Given the description of an element on the screen output the (x, y) to click on. 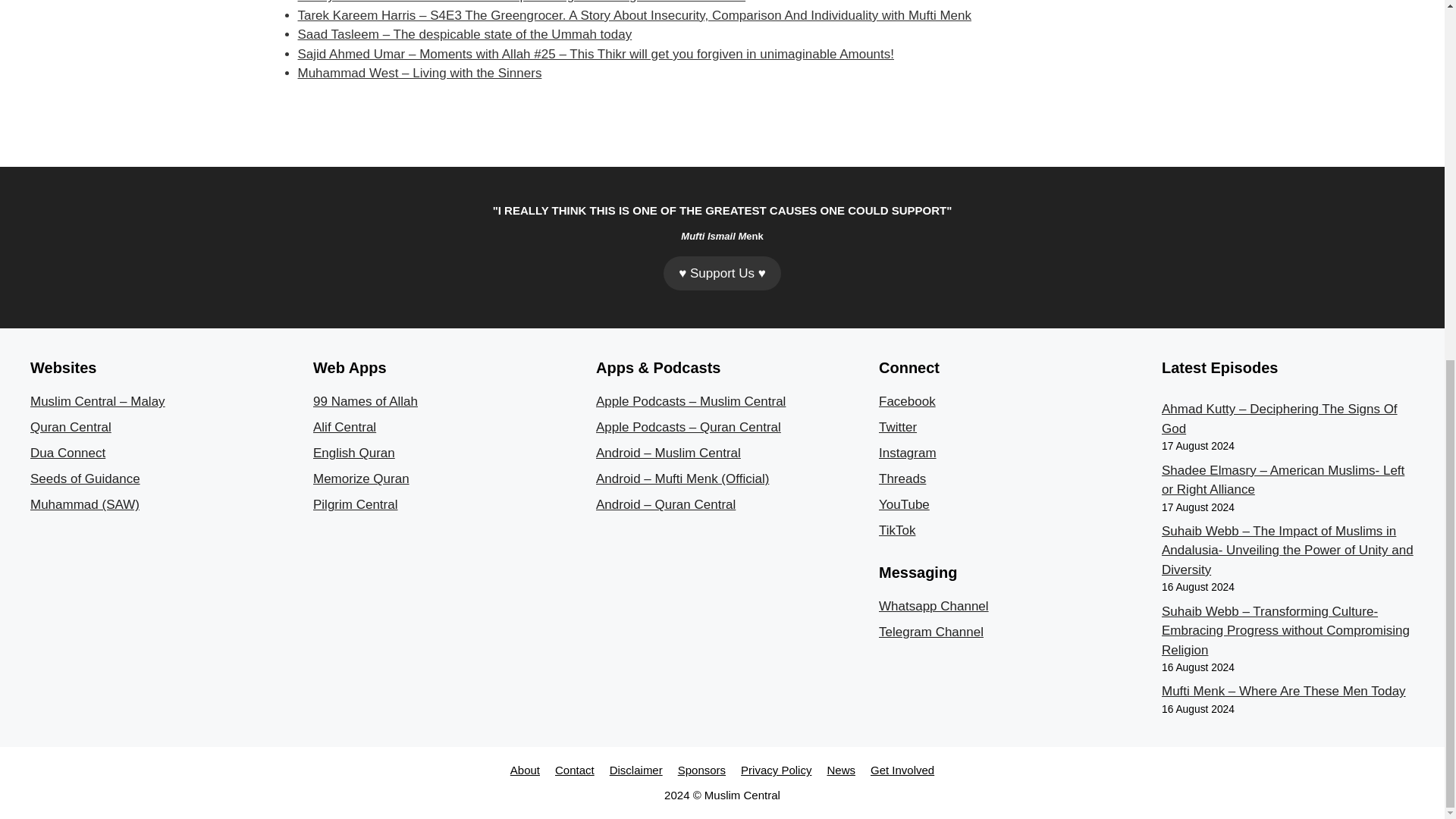
Quran Central (71, 427)
Pilgrim Central (355, 504)
Seeds of Guidance (84, 478)
Dua Connect (67, 452)
English Quran (353, 452)
Alif Central (344, 427)
Memorize Quran (361, 478)
99 Names of Allah (365, 400)
